Given the description of an element on the screen output the (x, y) to click on. 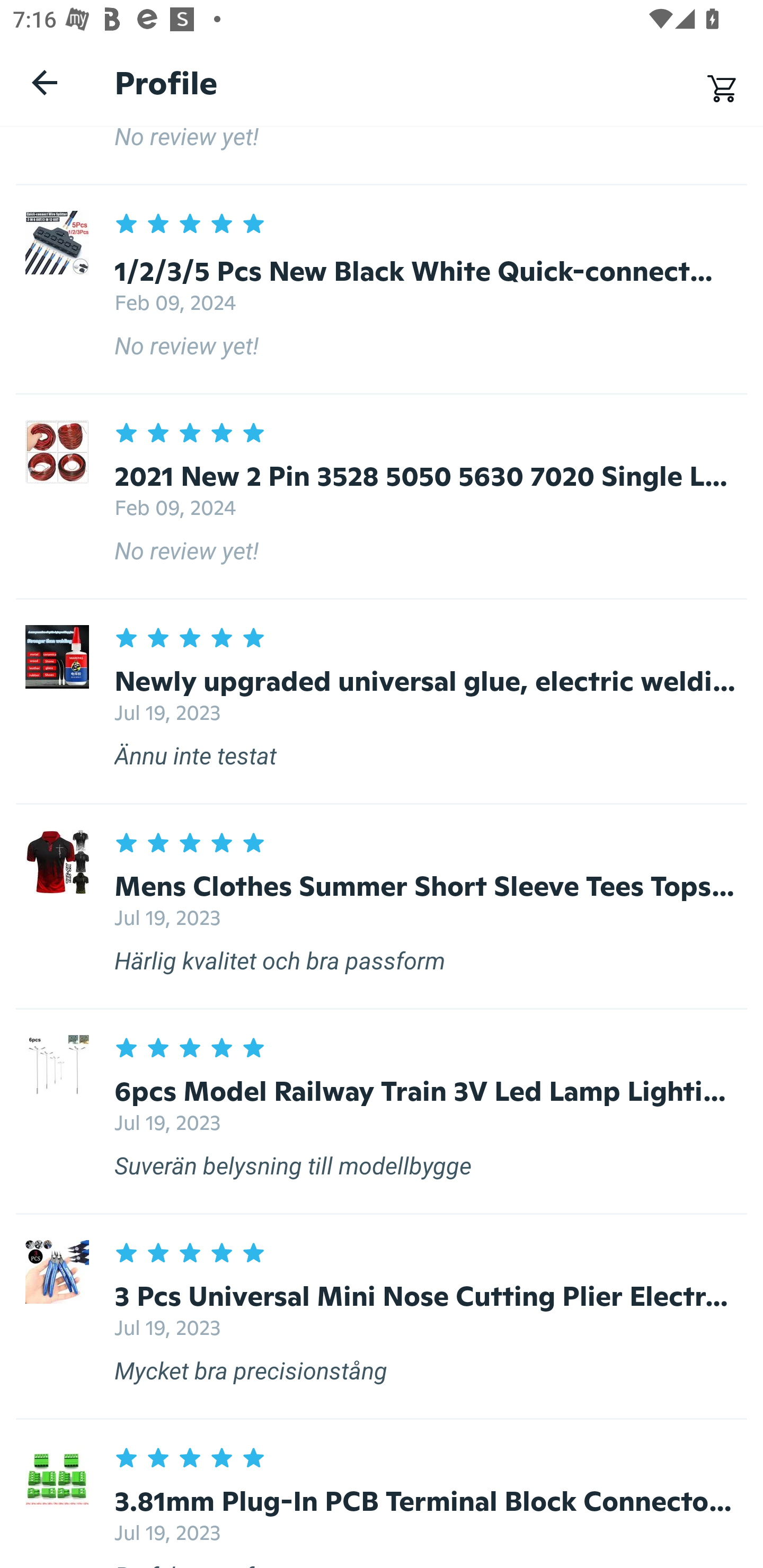
Navigate up (44, 82)
